Given the description of an element on the screen output the (x, y) to click on. 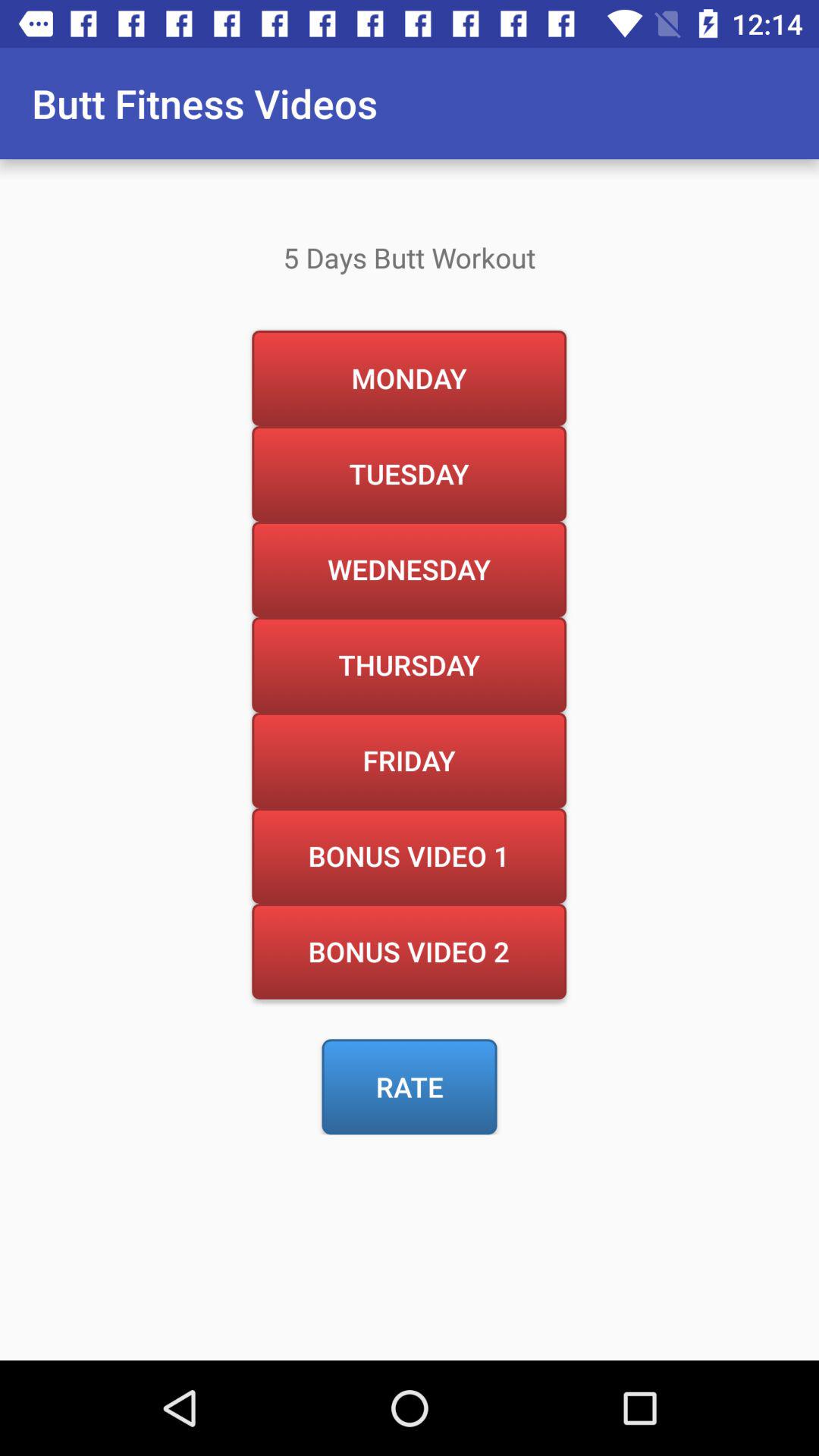
choose item below the bonus video 2 icon (409, 1086)
